Given the description of an element on the screen output the (x, y) to click on. 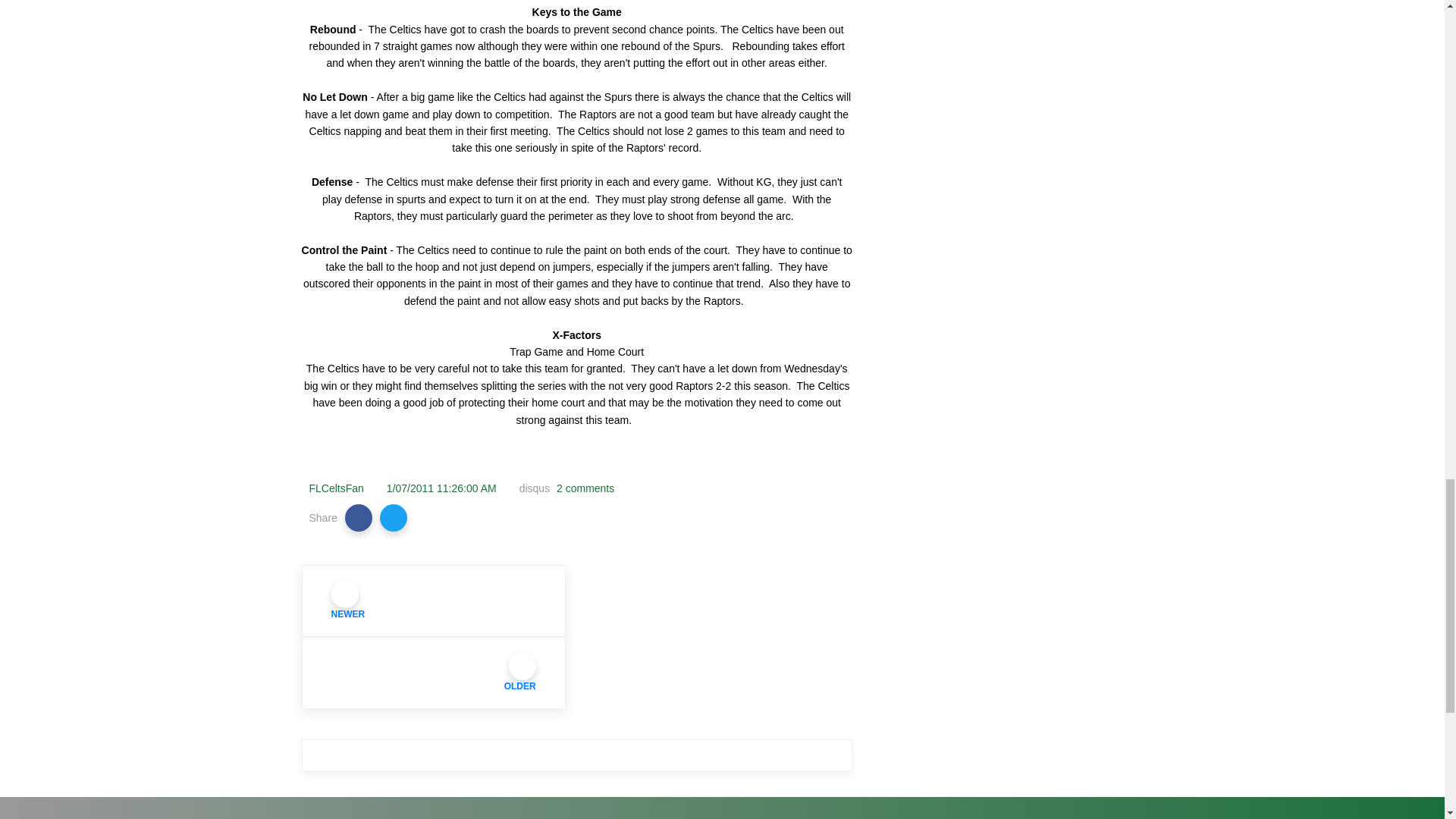
NEWER (433, 601)
author profile (336, 488)
permanent link (441, 488)
Share to Facebook (358, 517)
OLDER (433, 673)
FLCeltsFan (336, 488)
Share to Twitter (393, 517)
2 comments (583, 488)
